Given the description of an element on the screen output the (x, y) to click on. 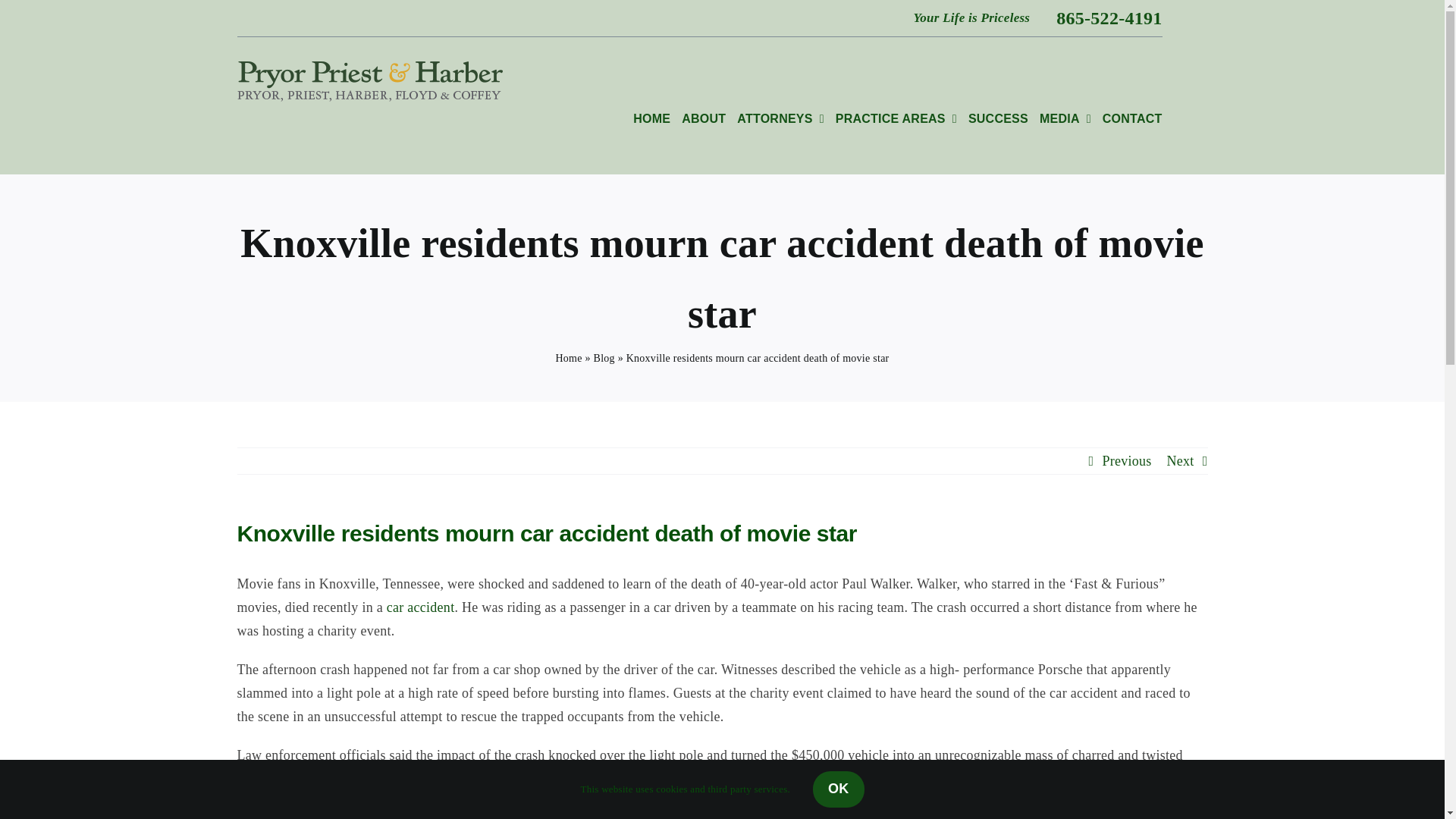
PRACTICE AREAS (895, 105)
